Given the description of an element on the screen output the (x, y) to click on. 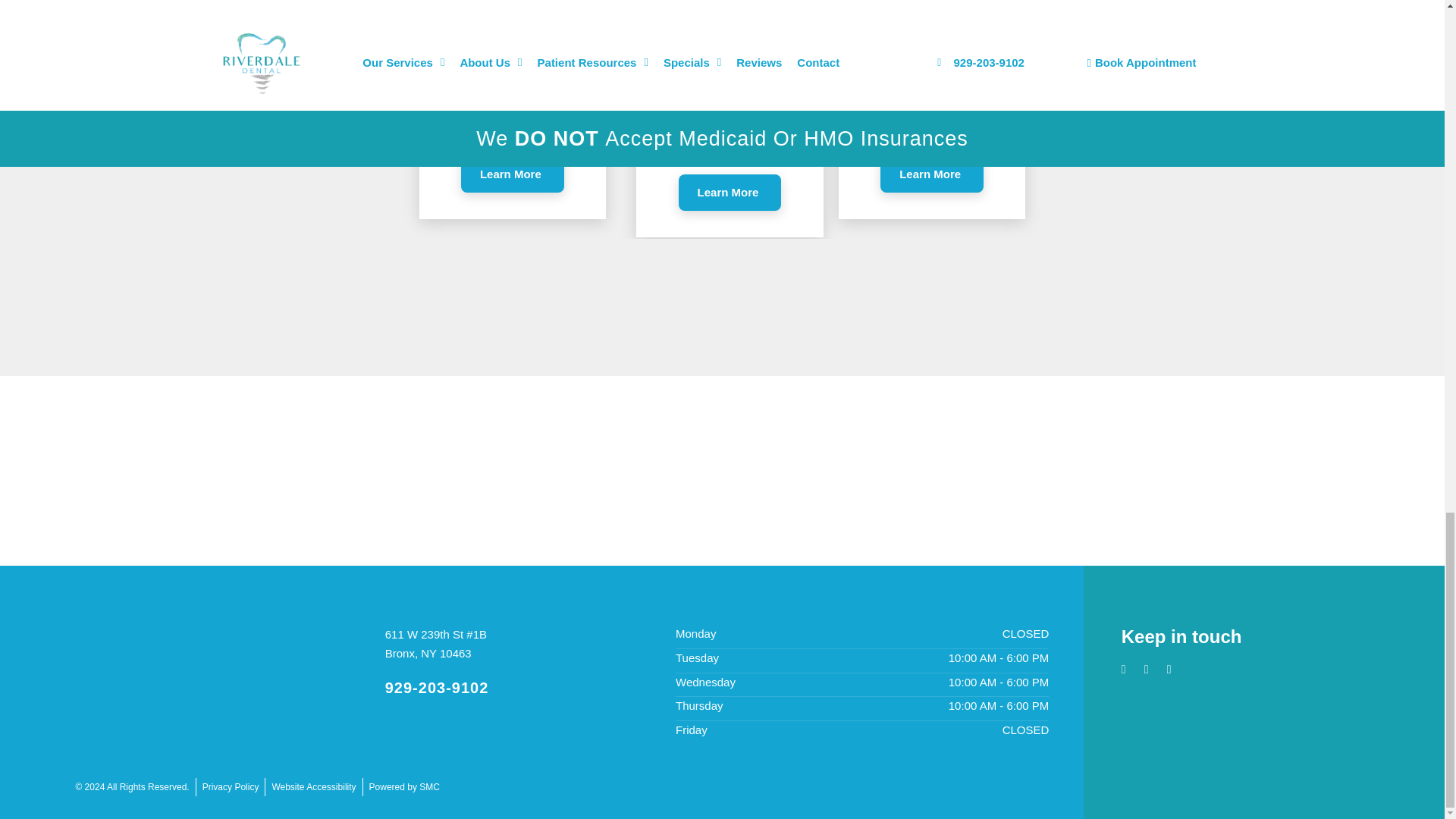
Happy middle aged woman (729, 46)
Joyful,Lovely,Couple,Girl,And,Guy,In,Basic,Clothing,Posing (512, 46)
